Given the description of an element on the screen output the (x, y) to click on. 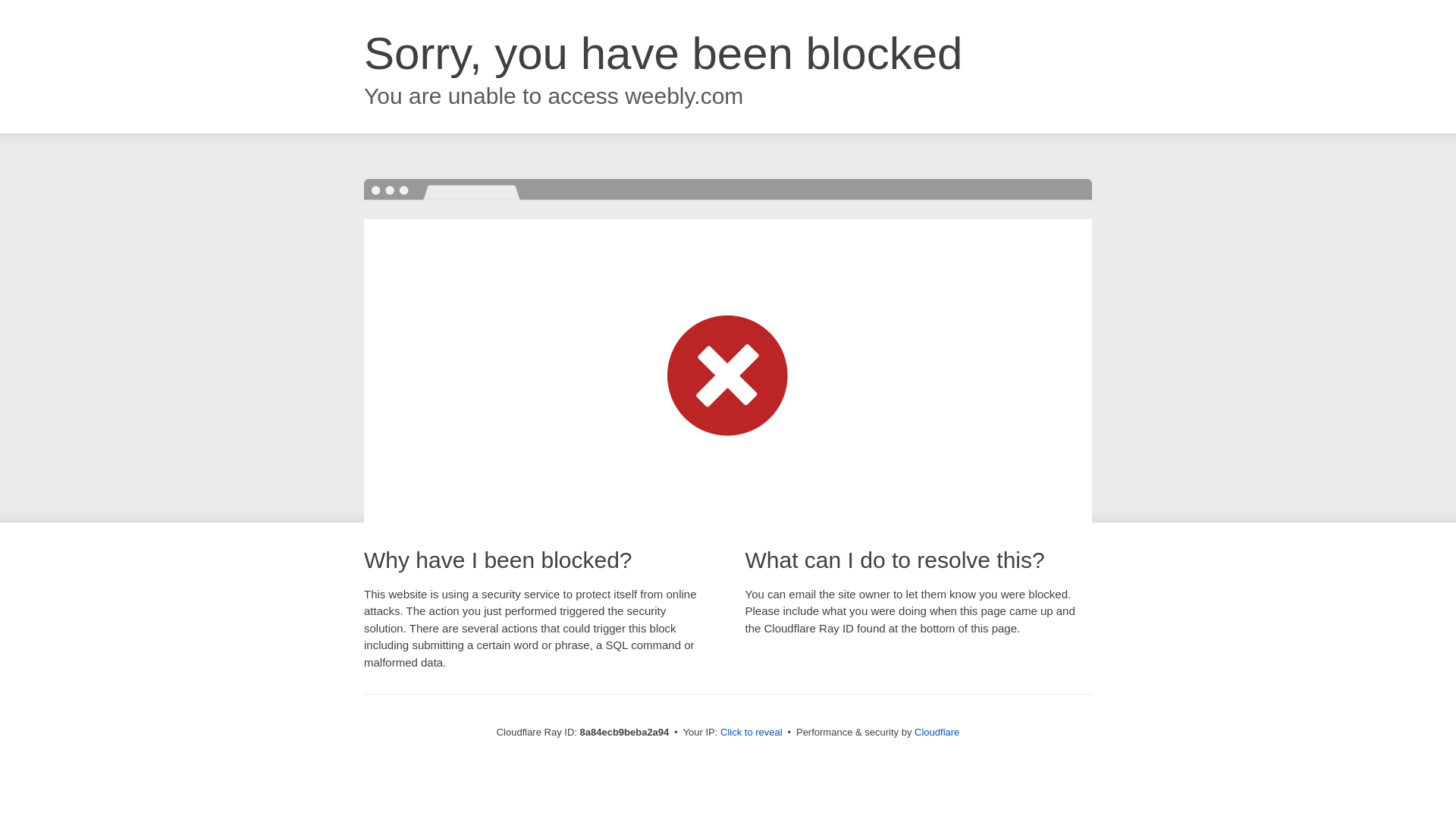
Click to reveal (751, 732)
Cloudflare (936, 731)
